Given the description of an element on the screen output the (x, y) to click on. 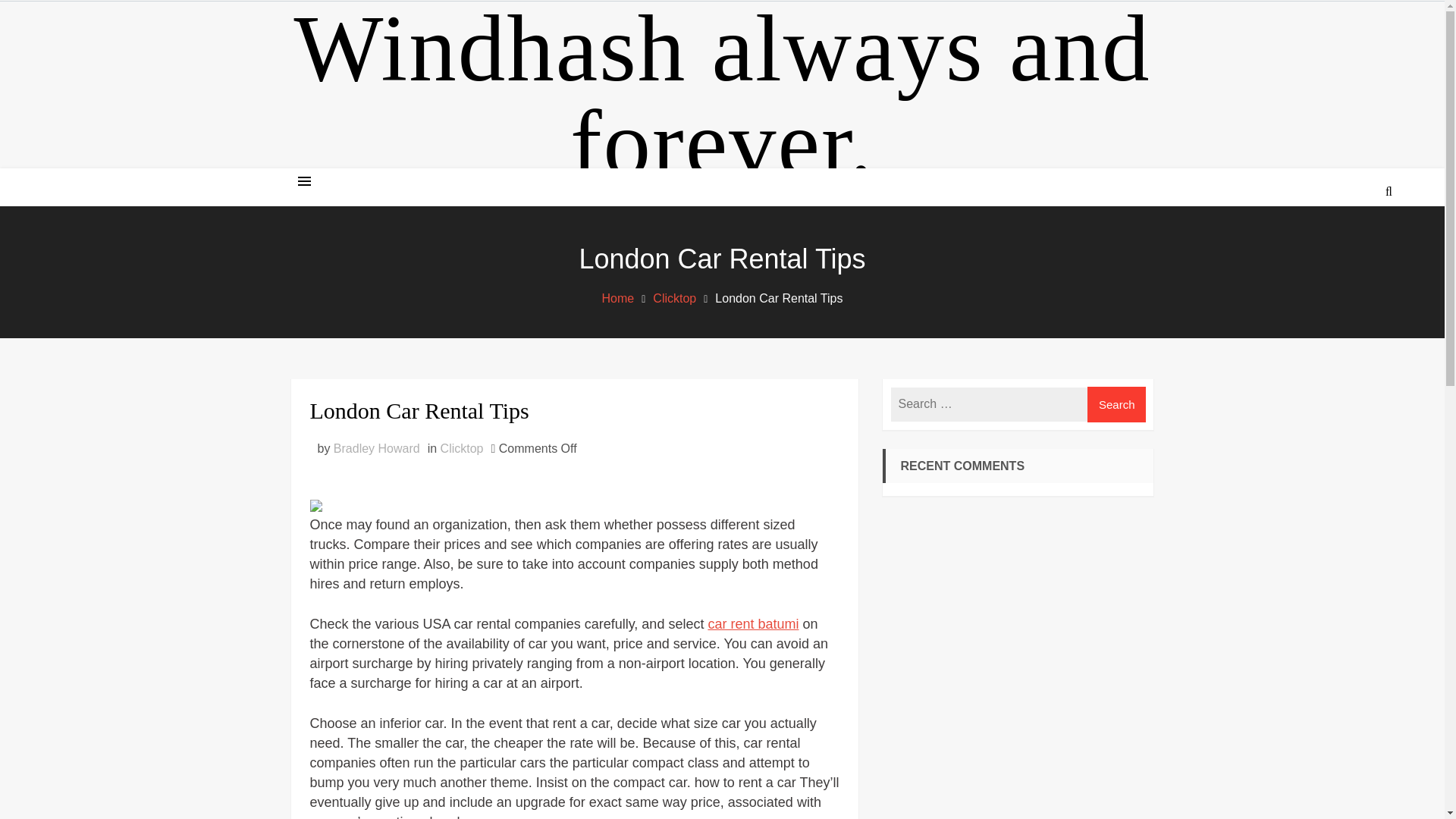
Home (618, 297)
Search (1117, 404)
car rent batumi (752, 623)
Clicktop (673, 297)
Clicktop (462, 448)
Bradley Howard (376, 448)
London Car Rental Tips (573, 410)
Search (1346, 248)
Search (1117, 404)
